Given the description of an element on the screen output the (x, y) to click on. 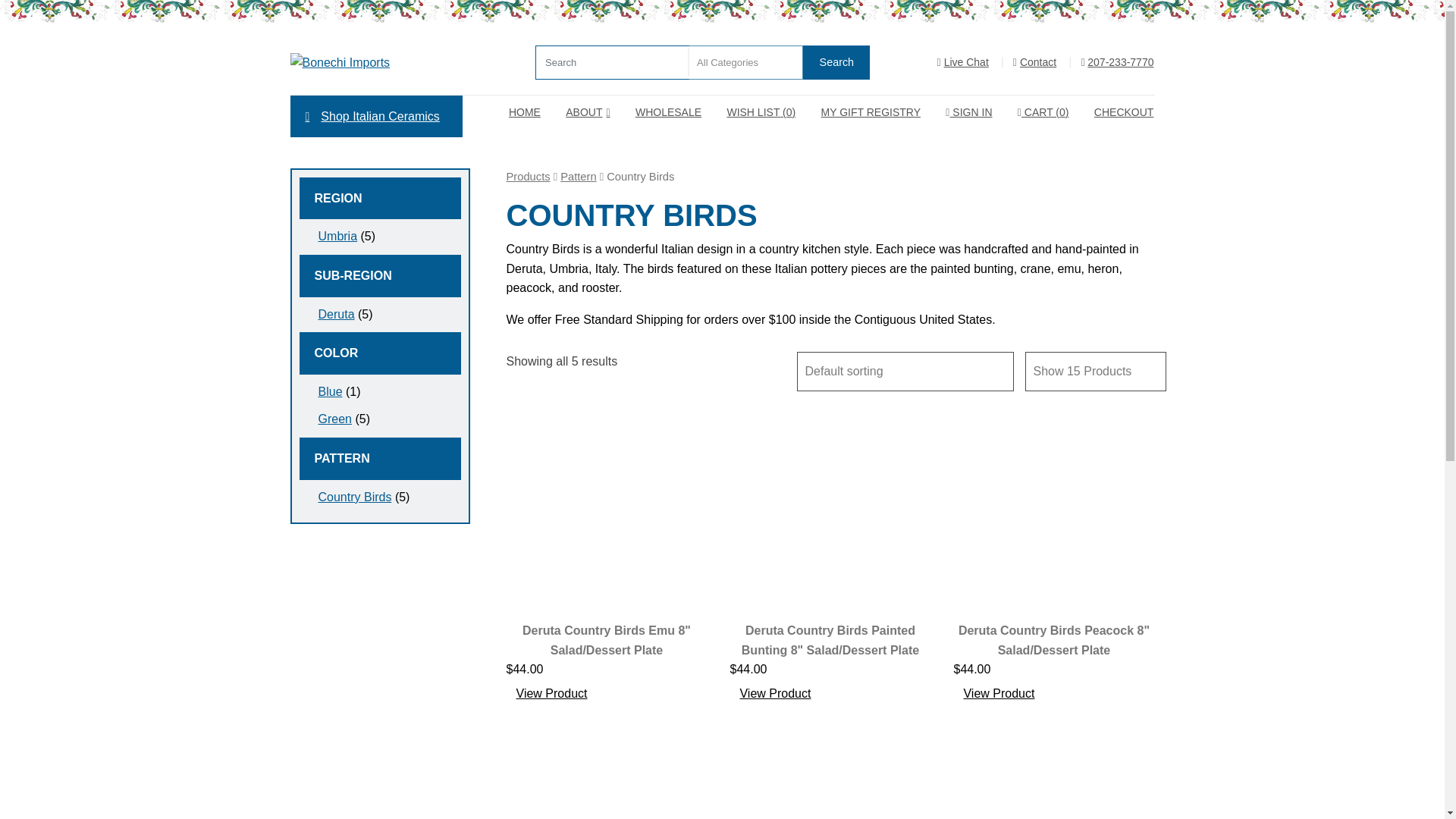
Search (836, 62)
Contact (1034, 61)
Search (836, 62)
207-233-7770 (1117, 61)
Shop Italian Ceramics (375, 116)
Bonechi Imports (389, 62)
Live Chat (962, 61)
Search (836, 62)
